Given the description of an element on the screen output the (x, y) to click on. 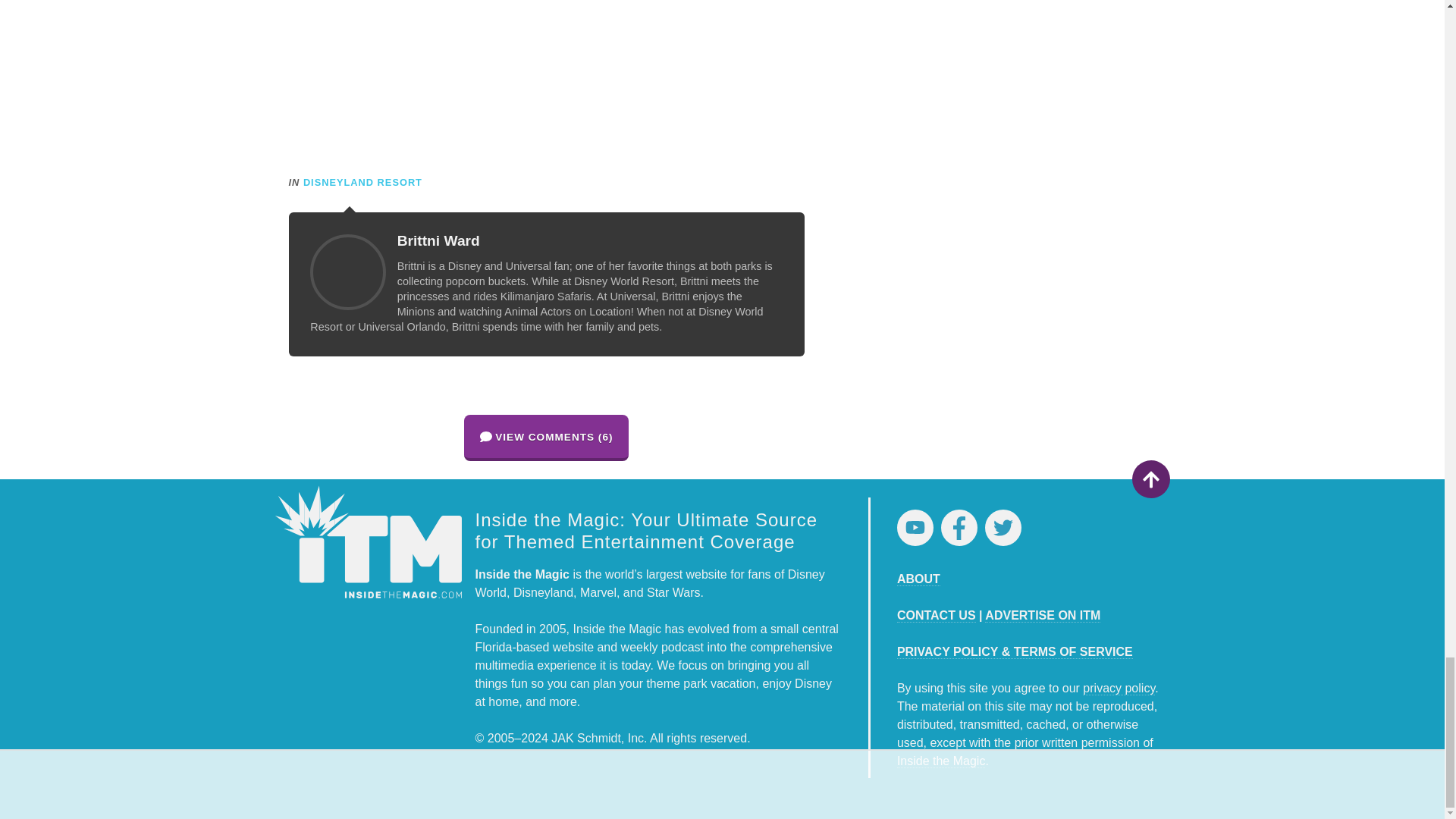
Return to Top (1150, 478)
